Given the description of an element on the screen output the (x, y) to click on. 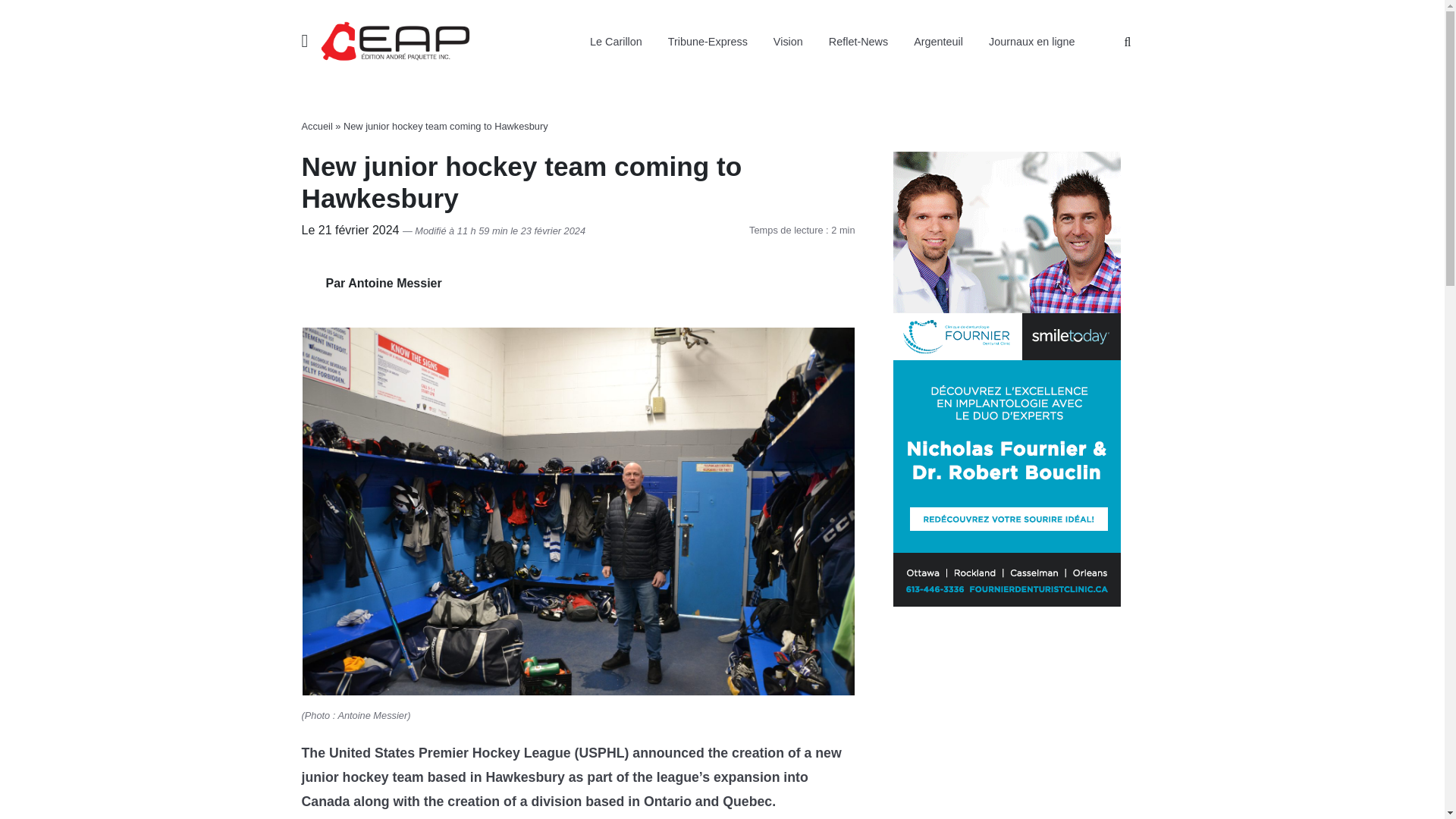
Tribune-Express (707, 41)
Argenteuil (938, 41)
Vision (787, 41)
Tribune-Express (707, 41)
Vision (787, 41)
Journaux en ligne (1031, 41)
Reflet-News (858, 41)
Argenteuil (938, 41)
Reflet-News (858, 41)
Accueil (317, 125)
